Given the description of an element on the screen output the (x, y) to click on. 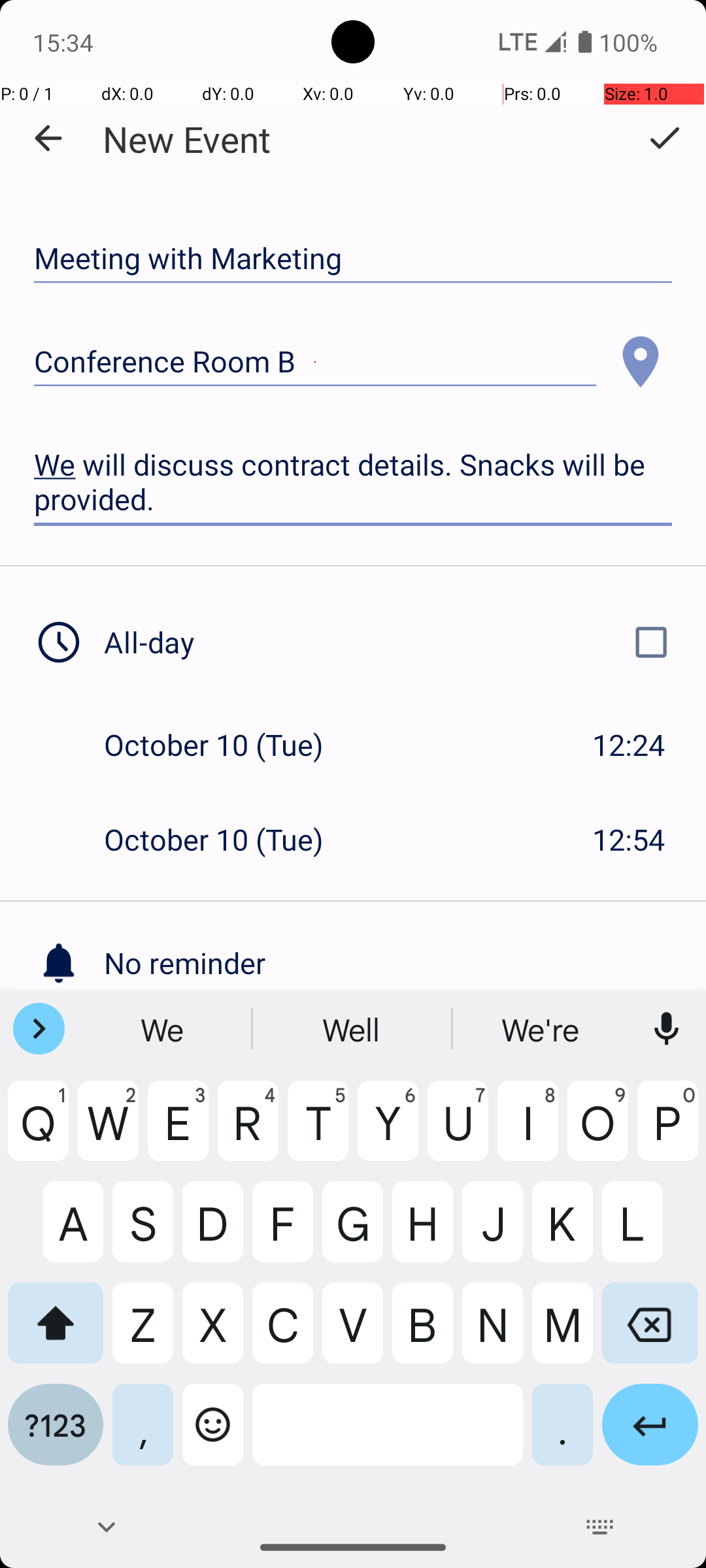
Conference Room B Element type: android.widget.EditText (314, 361)
We will discuss contract details. Snacks will be provided. Element type: android.widget.EditText (352, 482)
October 10 (Tue) Element type: android.widget.TextView (227, 744)
12:24 Element type: android.widget.TextView (628, 744)
12:54 Element type: android.widget.TextView (628, 838)
We Element type: android.widget.FrameLayout (163, 1028)
Well Element type: android.widget.FrameLayout (352, 1028)
We're Element type: android.widget.FrameLayout (541, 1028)
